Given the description of an element on the screen output the (x, y) to click on. 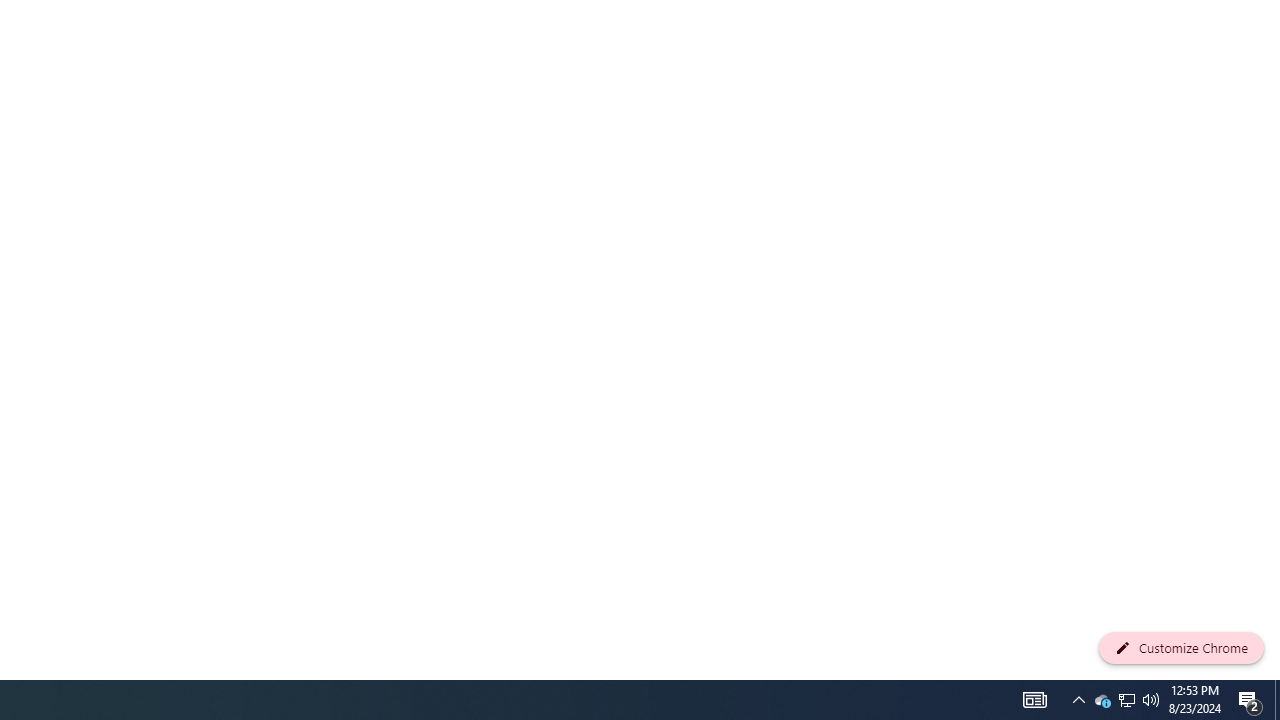
Notification Chevron (1078, 699)
AutomationID: 4105 (1102, 699)
Action Center, 2 new notifications (1034, 699)
Show desktop (1250, 699)
User Promoted Notification Area (1277, 699)
Q2790: 100% (1126, 699)
